Given the description of an element on the screen output the (x, y) to click on. 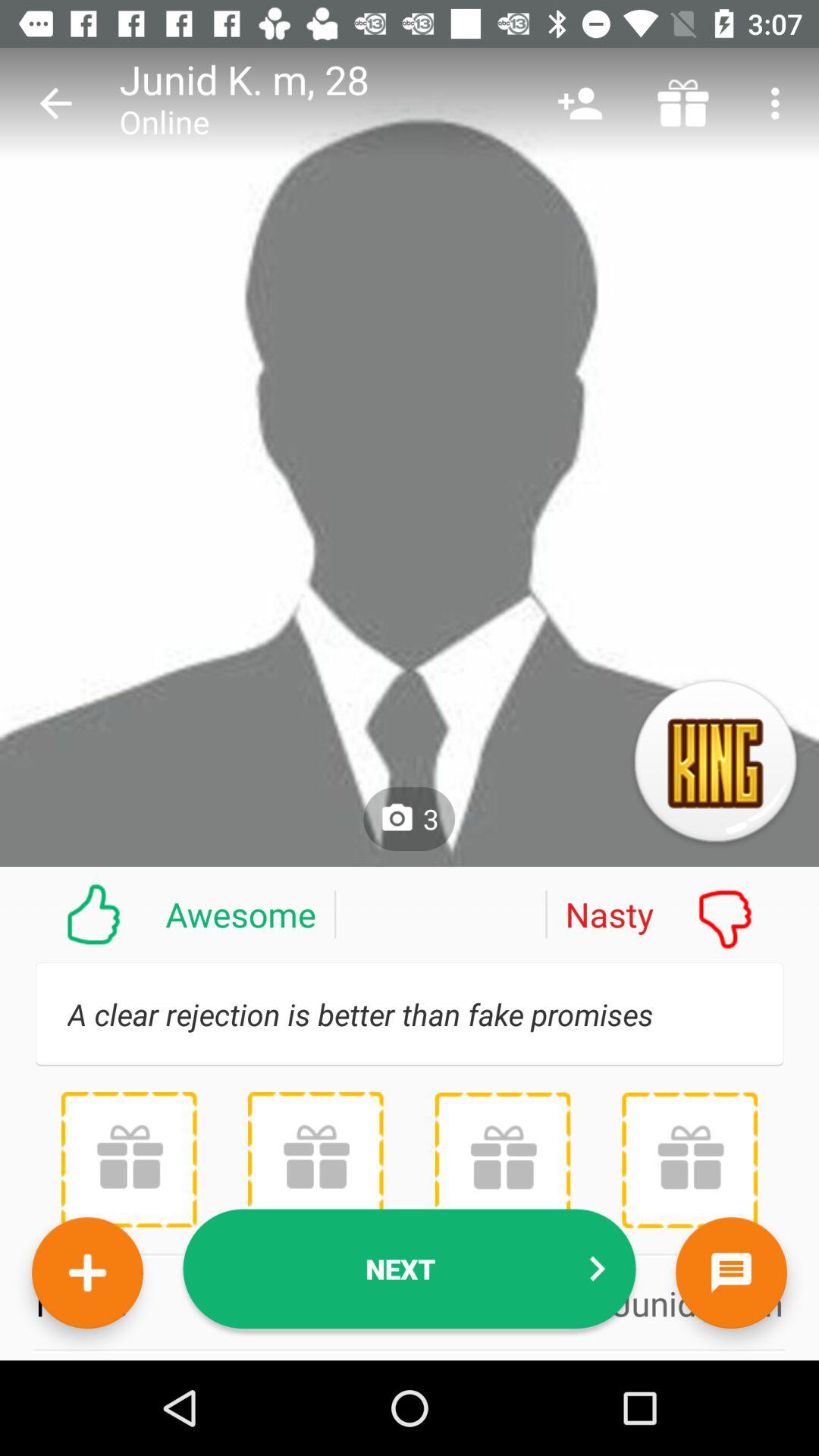
select icon below a clear rejection icon (128, 1159)
